Given the description of an element on the screen output the (x, y) to click on. 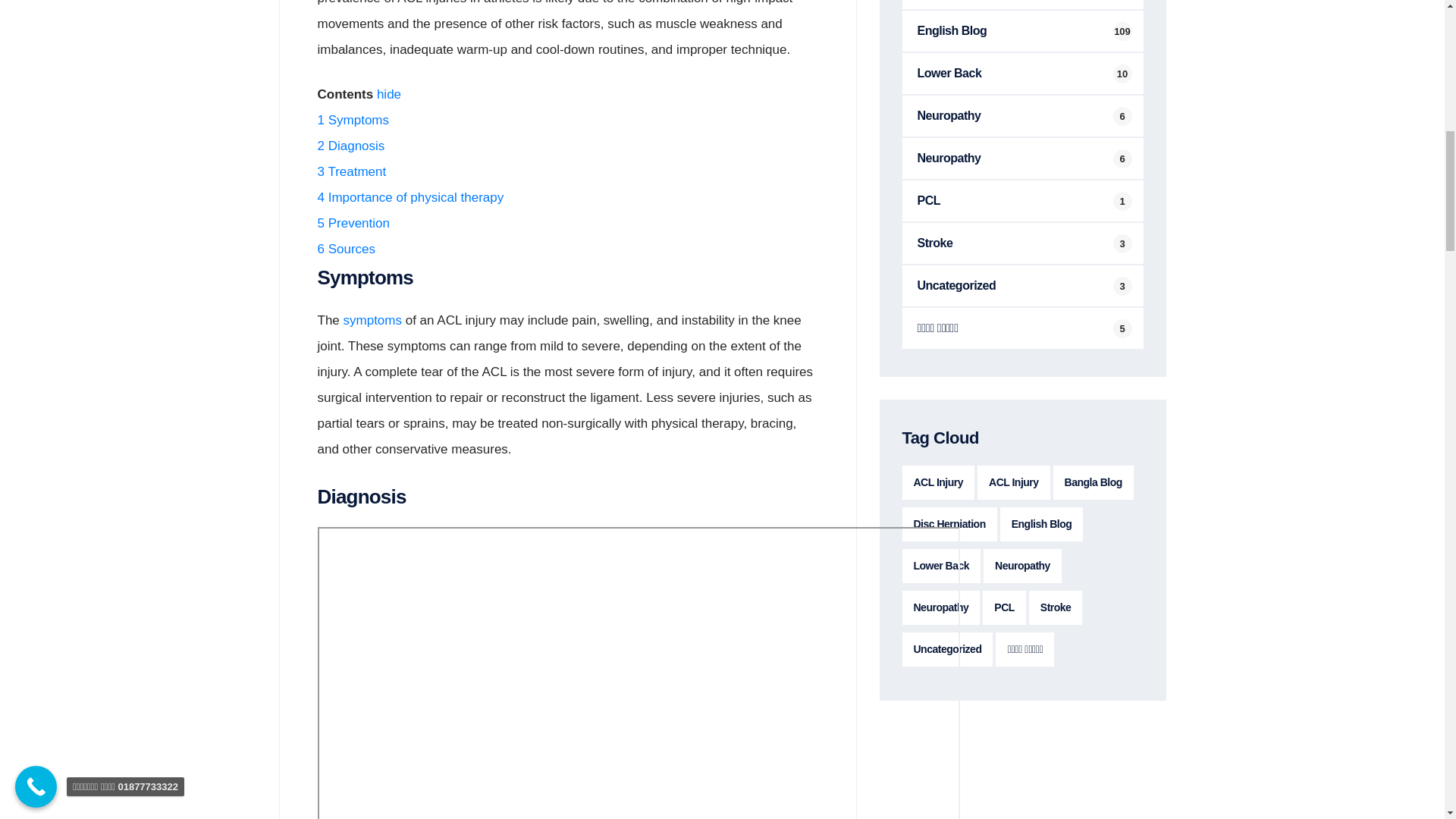
hide (389, 93)
